Given the description of an element on the screen output the (x, y) to click on. 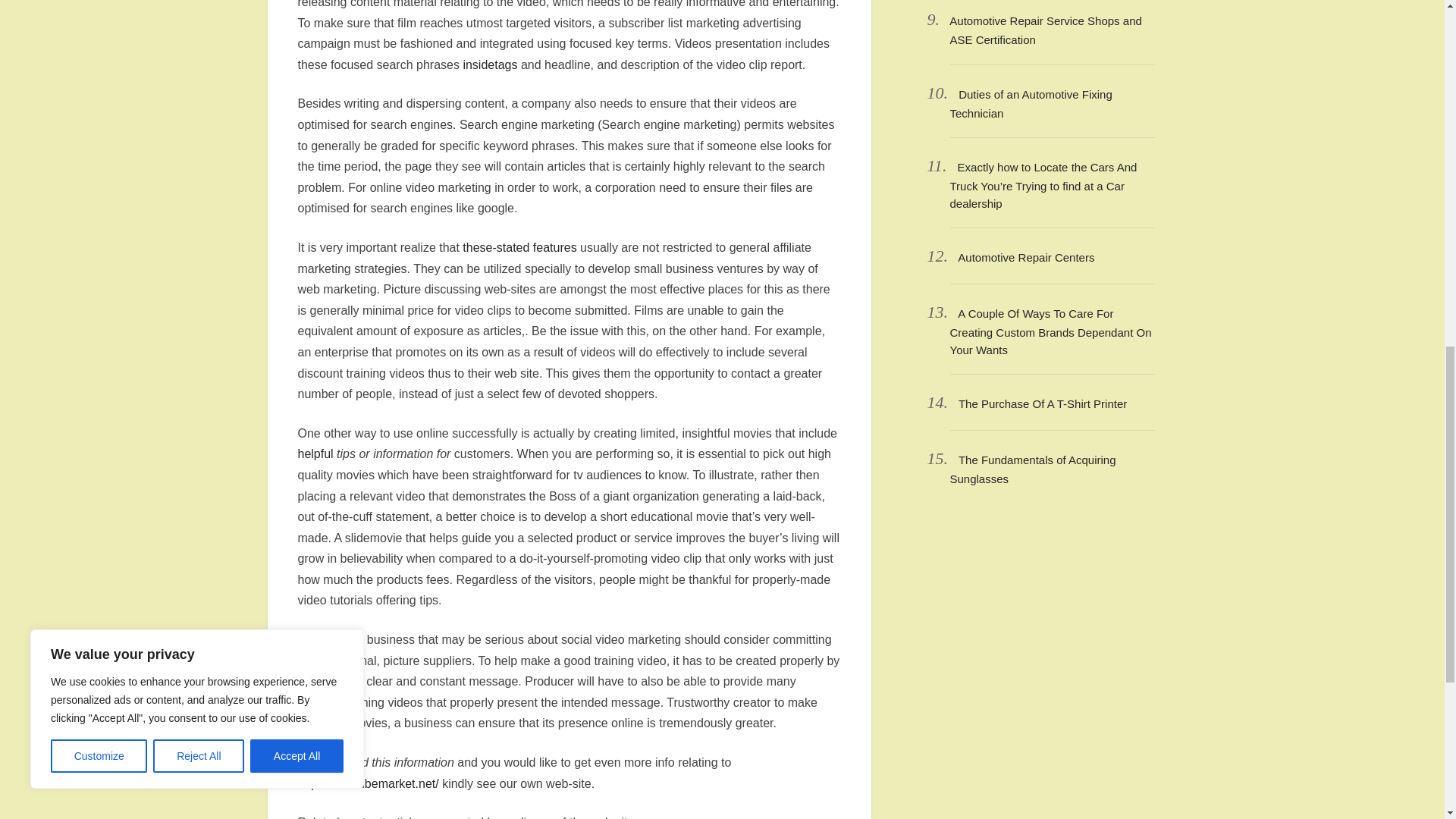
these-stated features (519, 246)
insidetags (489, 64)
helpful (315, 453)
